Given the description of an element on the screen output the (x, y) to click on. 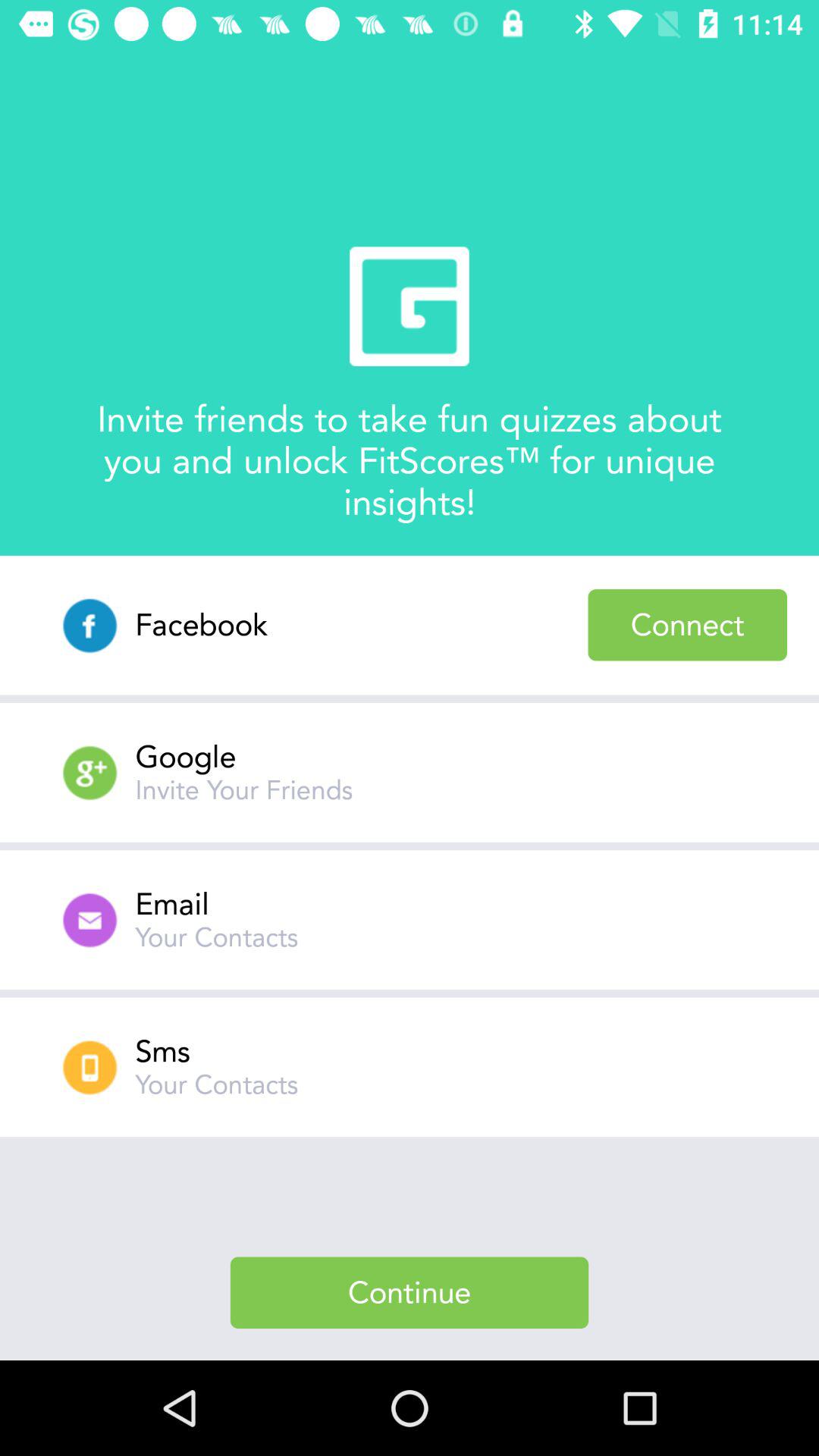
choose item below the invite friends to item (687, 624)
